Given the description of an element on the screen output the (x, y) to click on. 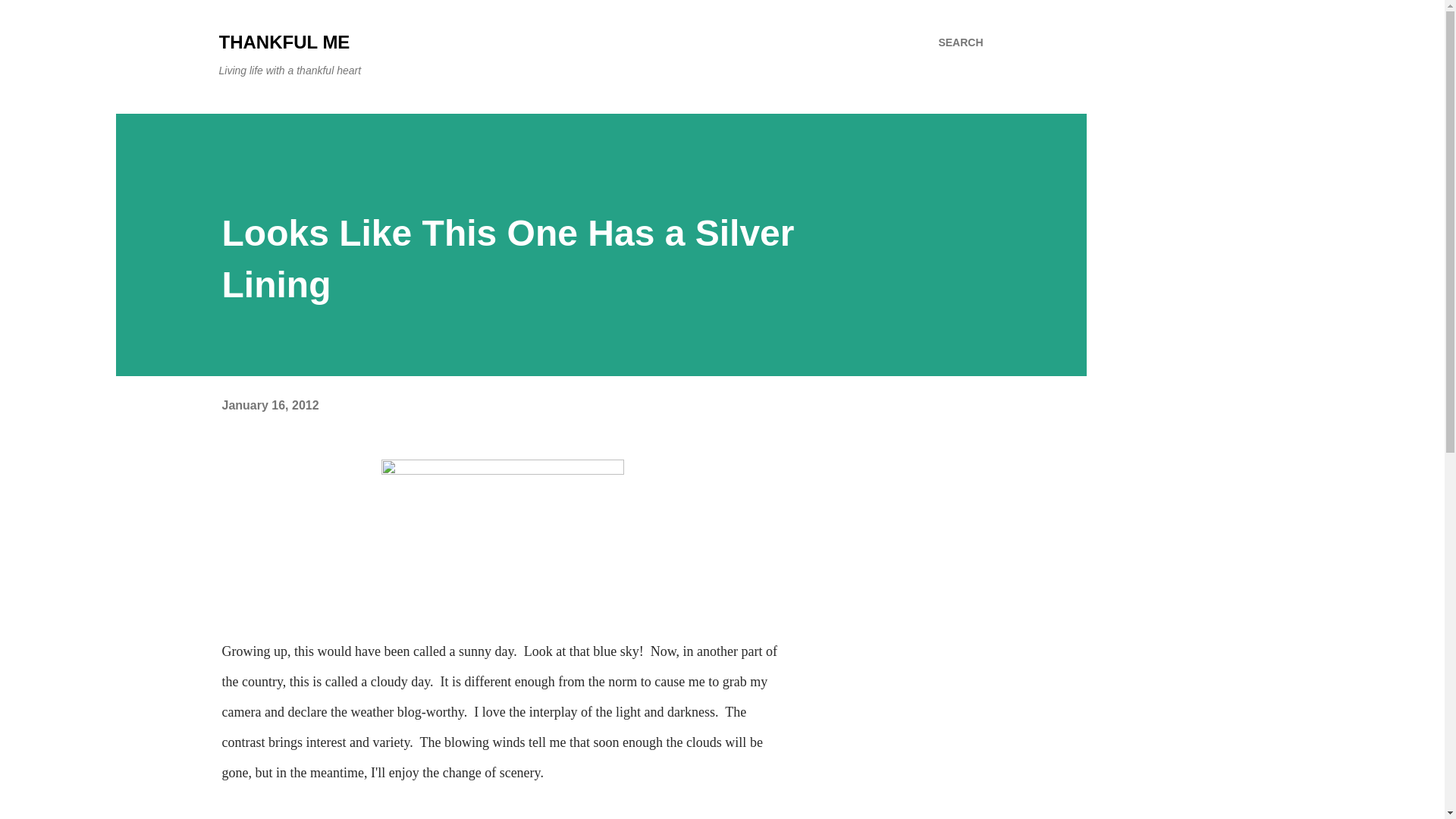
permanent link (269, 404)
SEARCH (959, 42)
January 16, 2012 (269, 404)
THANKFUL ME (283, 41)
